Given the description of an element on the screen output the (x, y) to click on. 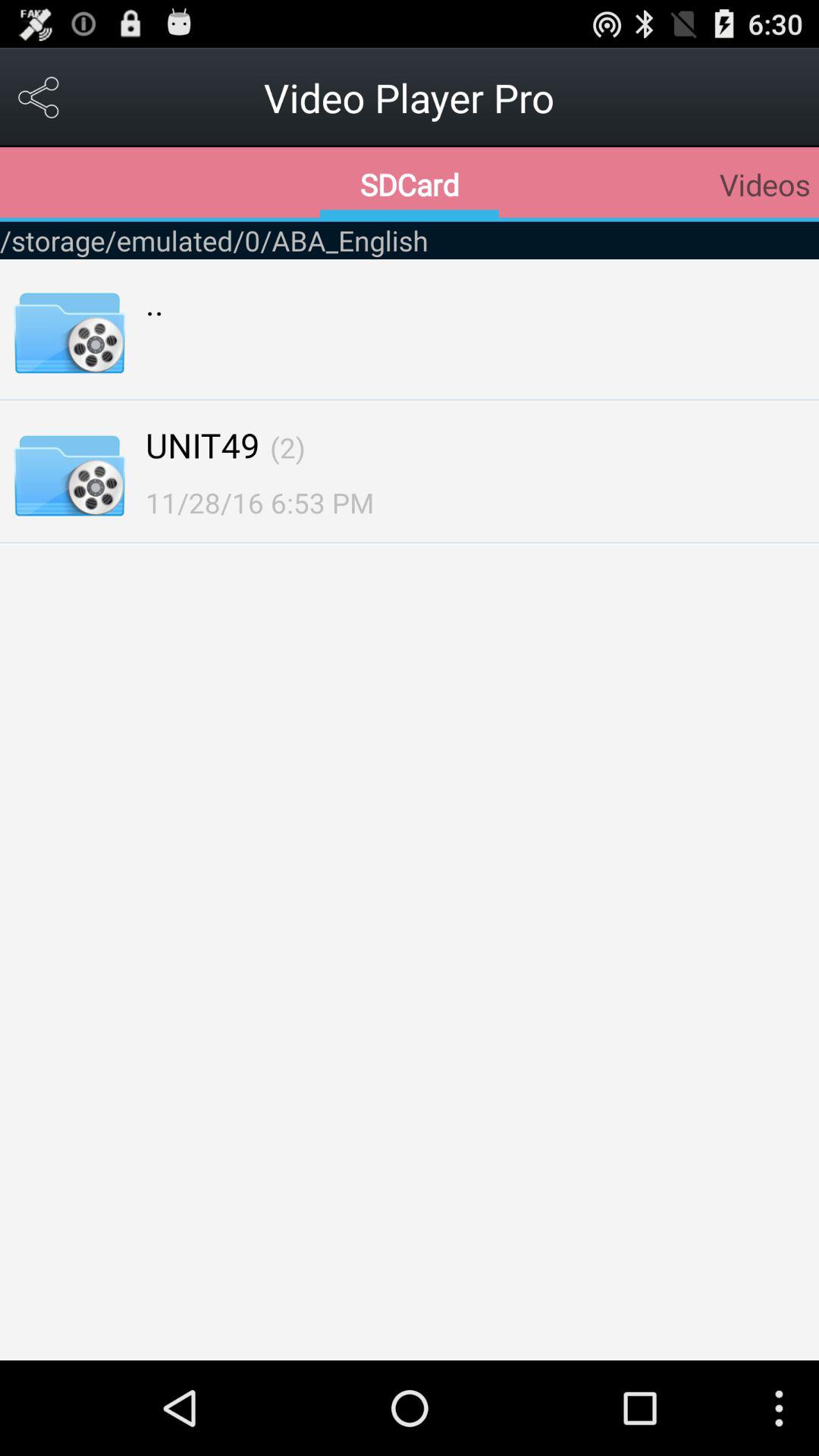
toggle option menu (39, 97)
